Given the description of an element on the screen output the (x, y) to click on. 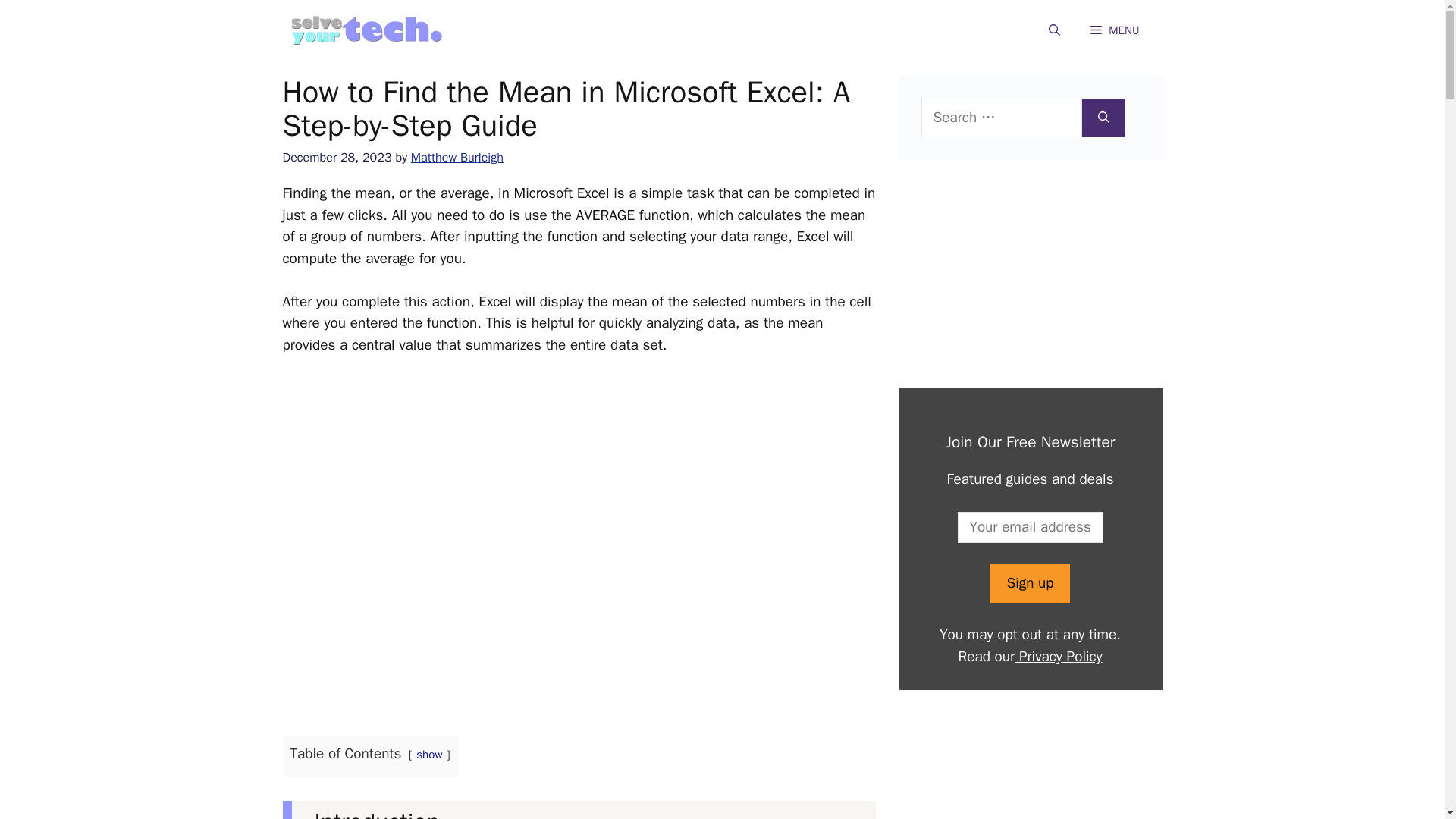
View all posts by Matthew Burleigh (456, 157)
Sign up (1029, 583)
Solve Your Tech (365, 30)
Matthew Burleigh (456, 157)
show (429, 754)
MENU (1114, 30)
